Given the description of an element on the screen output the (x, y) to click on. 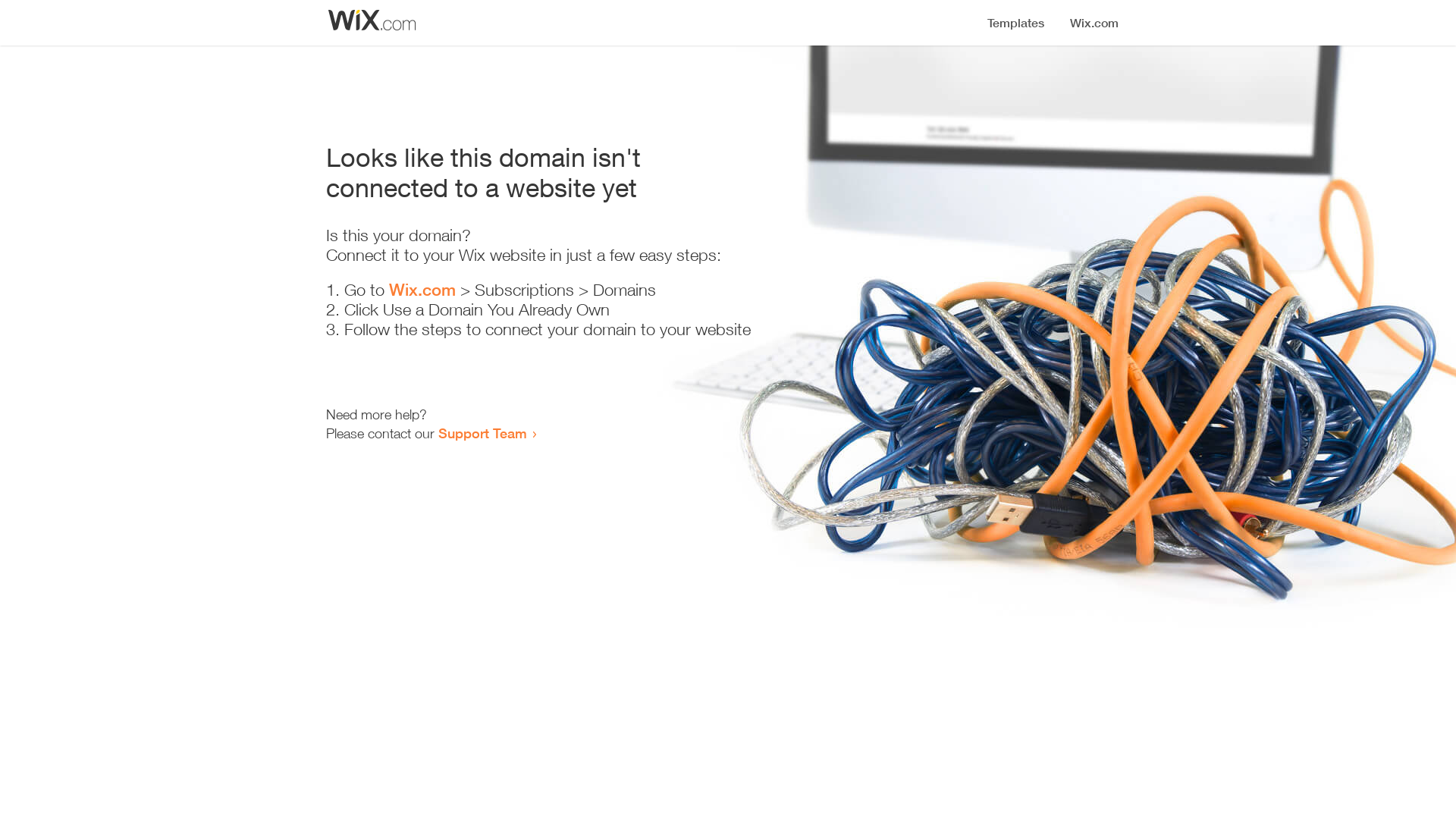
Wix.com Element type: text (422, 289)
Support Team Element type: text (482, 432)
